Given the description of an element on the screen output the (x, y) to click on. 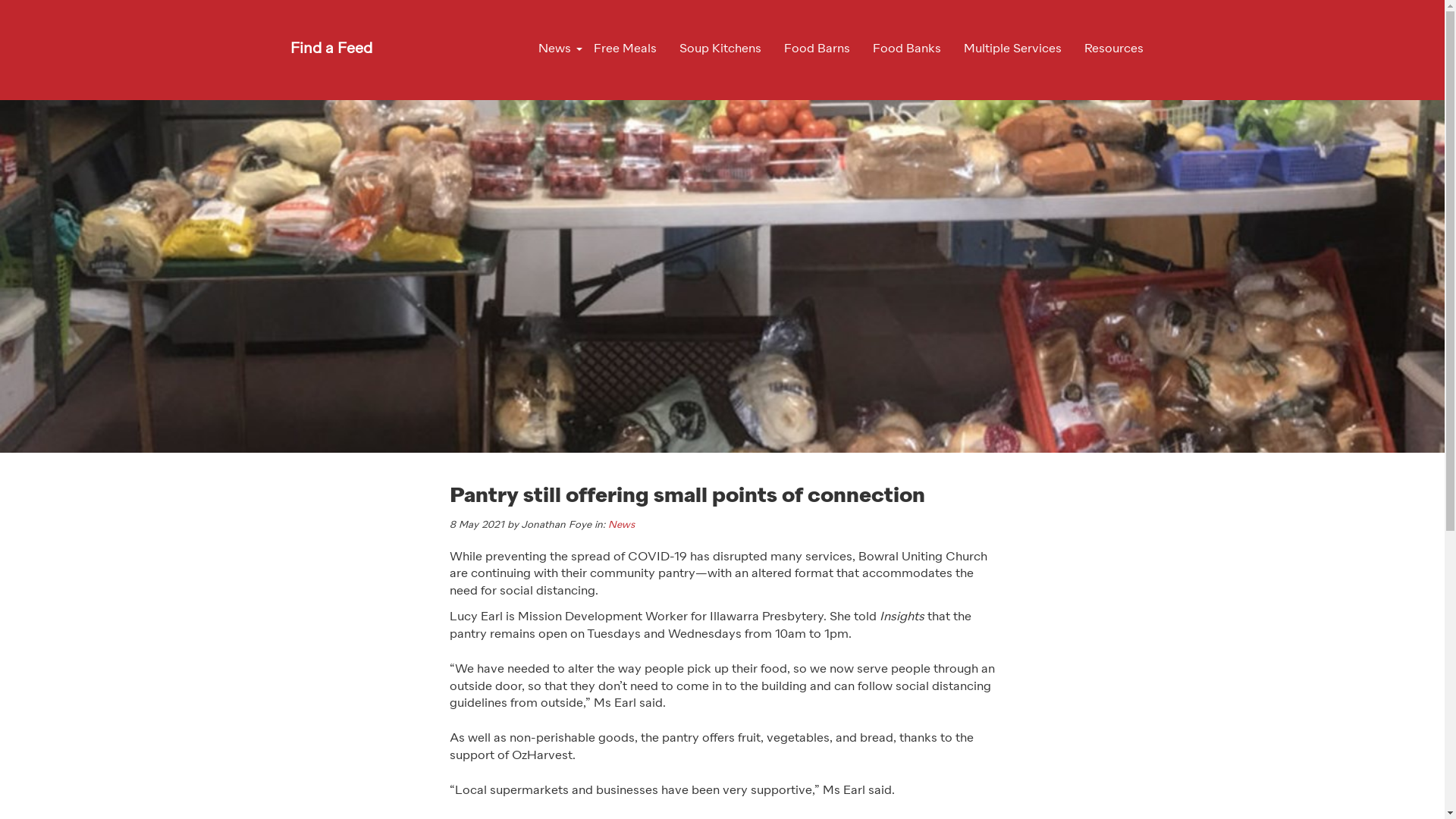
Resources Element type: text (1113, 49)
Find a Feed Element type: text (331, 49)
Multiple Services Element type: text (1012, 49)
Food Banks Element type: text (906, 49)
News Element type: text (621, 525)
Soup Kitchens Element type: text (719, 49)
News Element type: text (553, 49)
Free Meals Element type: text (625, 49)
Food Barns Element type: text (815, 49)
